Given the description of an element on the screen output the (x, y) to click on. 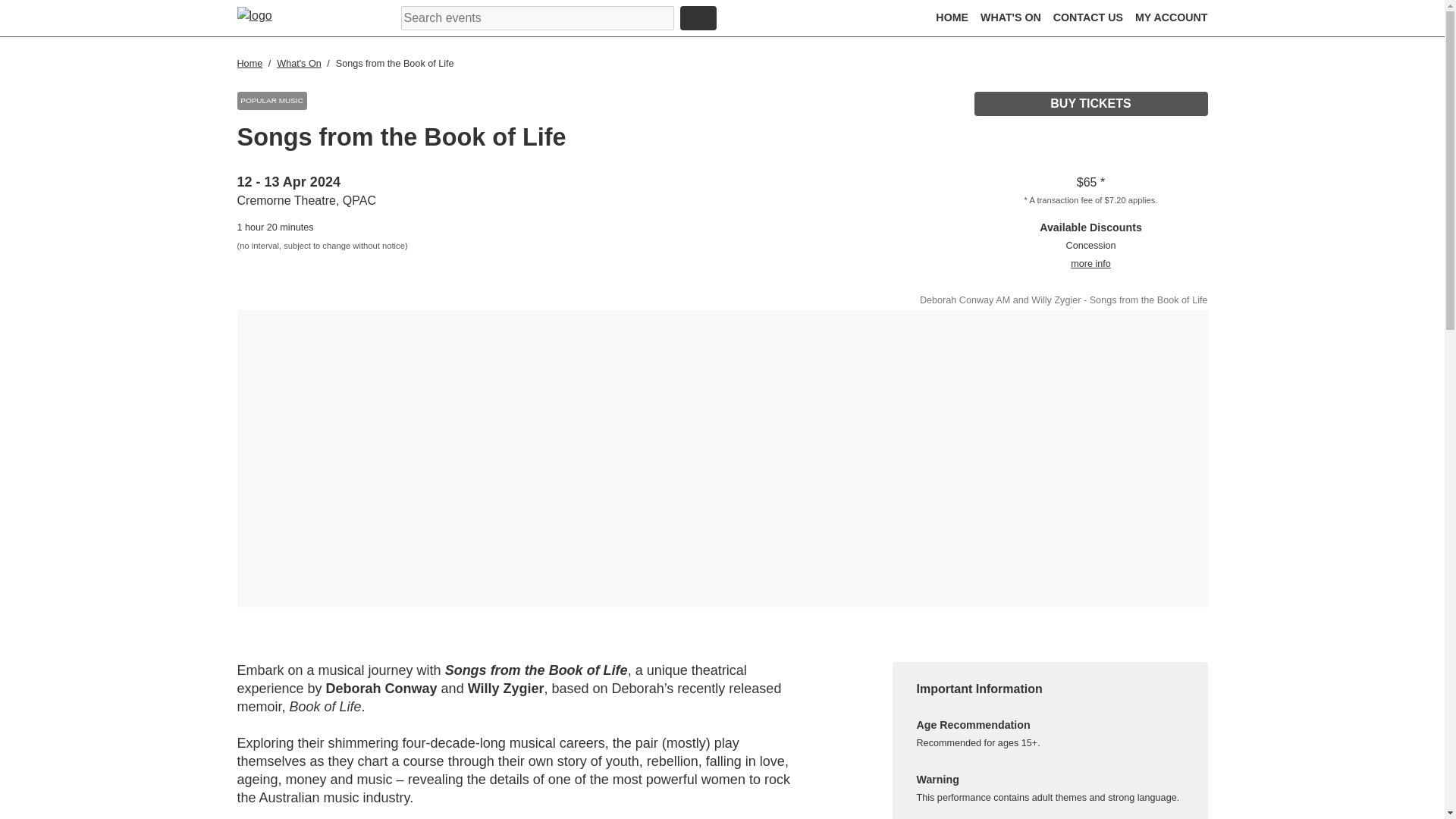
more info (1090, 263)
Go to QTIX Home Page (266, 17)
MY ACCOUNT (1171, 17)
Home (249, 63)
What's On (300, 63)
CONTACT US (1087, 17)
Launch accessibility tool (787, 19)
WHAT'S ON (1010, 17)
BUY TICKETS (1090, 103)
HOME (952, 17)
